Given the description of an element on the screen output the (x, y) to click on. 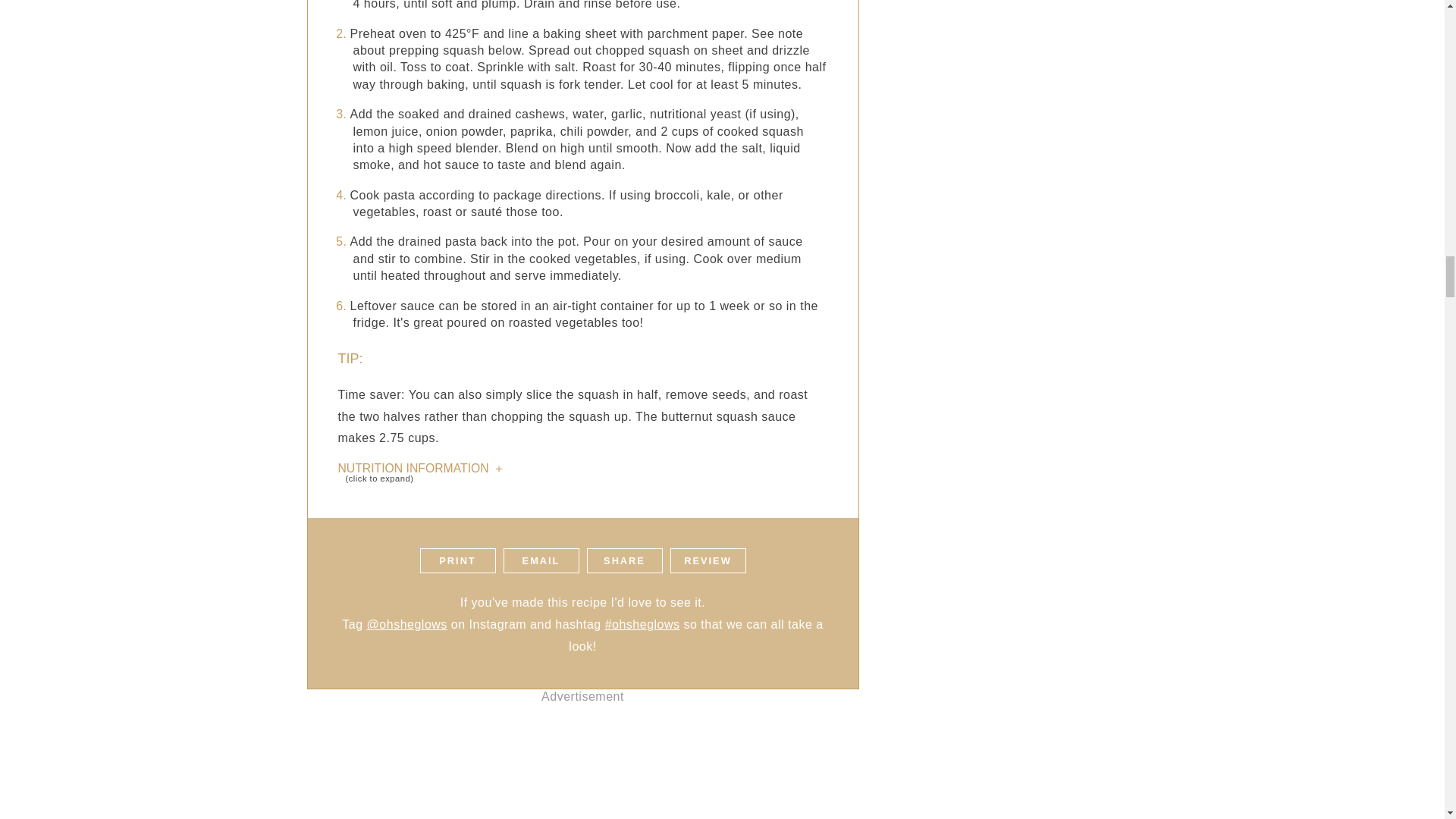
Email Recipe (655, 2)
